Given the description of an element on the screen output the (x, y) to click on. 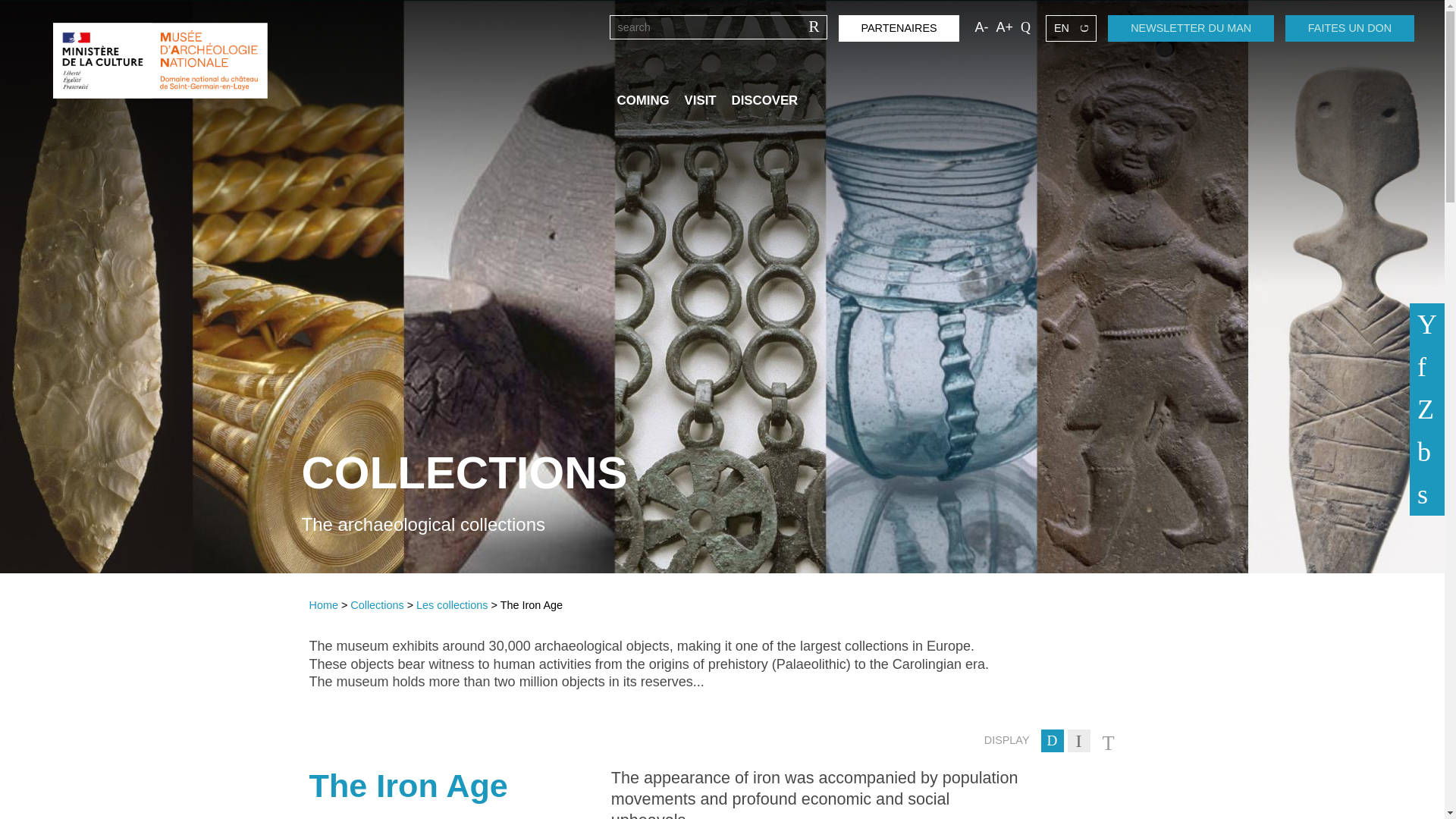
FAITES UN DON (1349, 28)
A- (981, 27)
NEWSLETTER DU MAN (1191, 28)
PARTENAIRES (898, 28)
Ok (812, 27)
